Given the description of an element on the screen output the (x, y) to click on. 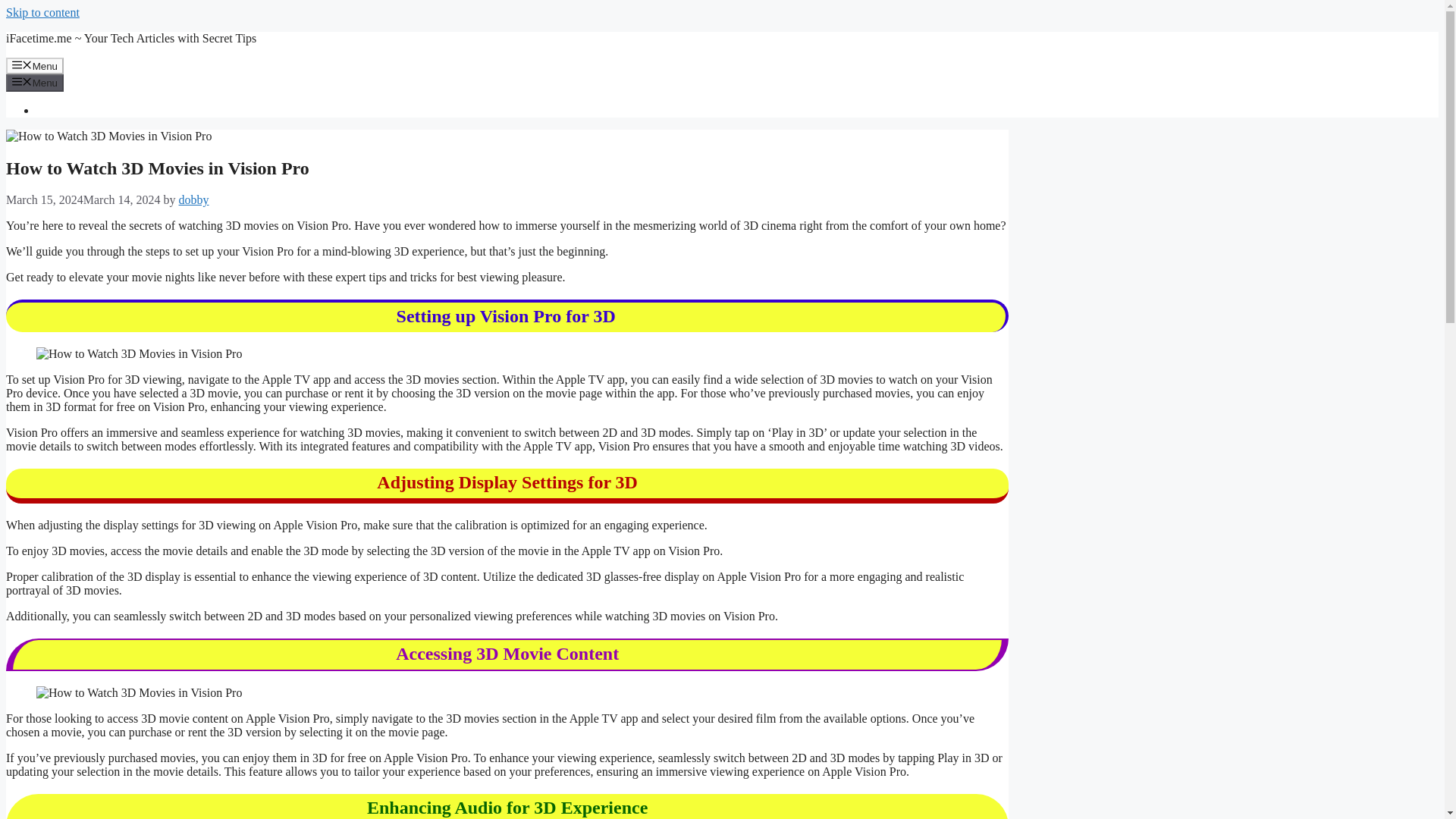
Menu (34, 82)
View all posts by dobby (194, 199)
dobby (194, 199)
Skip to content (42, 11)
Menu (34, 65)
Skip to content (42, 11)
